Given the description of an element on the screen output the (x, y) to click on. 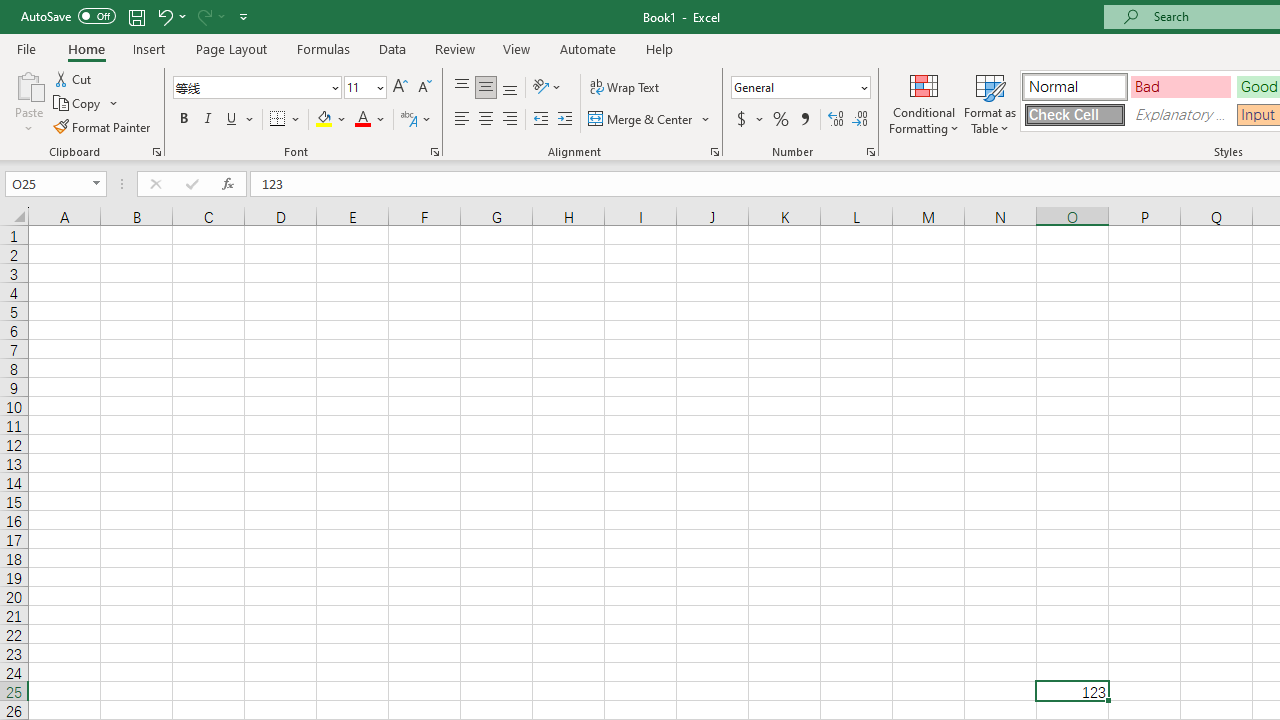
Font (256, 87)
Percent Style (781, 119)
Data (392, 48)
File Tab (26, 48)
Check Cell (1074, 114)
Help (660, 48)
Increase Indent (565, 119)
Fill Color (331, 119)
Font Size (358, 87)
Accounting Number Format (749, 119)
Number Format (800, 87)
Format Cell Alignment (714, 151)
Copy (78, 103)
Paste (28, 102)
Font Size (365, 87)
